Given the description of an element on the screen output the (x, y) to click on. 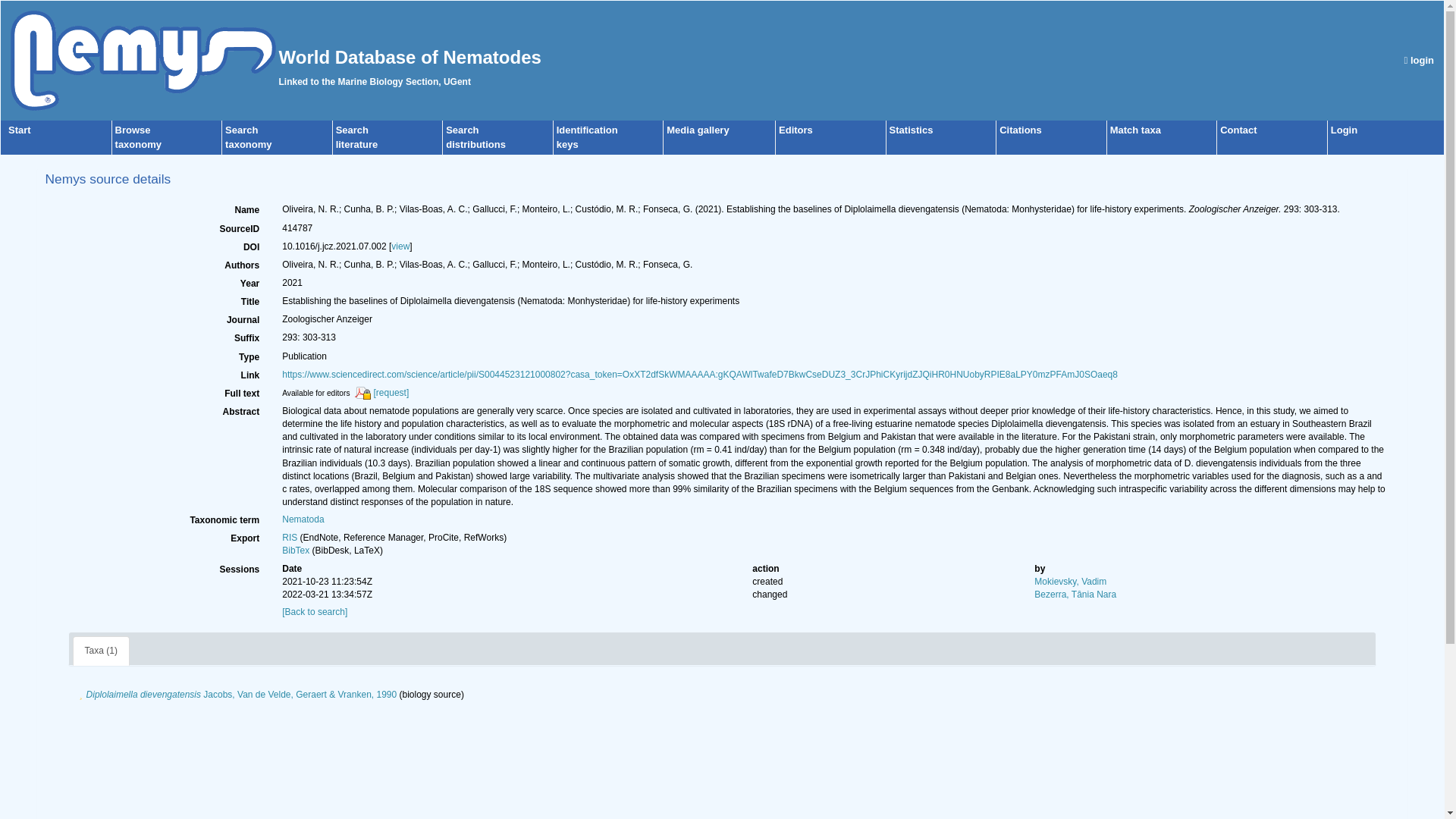
 login (247, 136)
BibTex (1419, 60)
Start (295, 550)
Media gallery (19, 129)
RIS (697, 129)
Login (289, 537)
Contact (1343, 129)
